Given the description of an element on the screen output the (x, y) to click on. 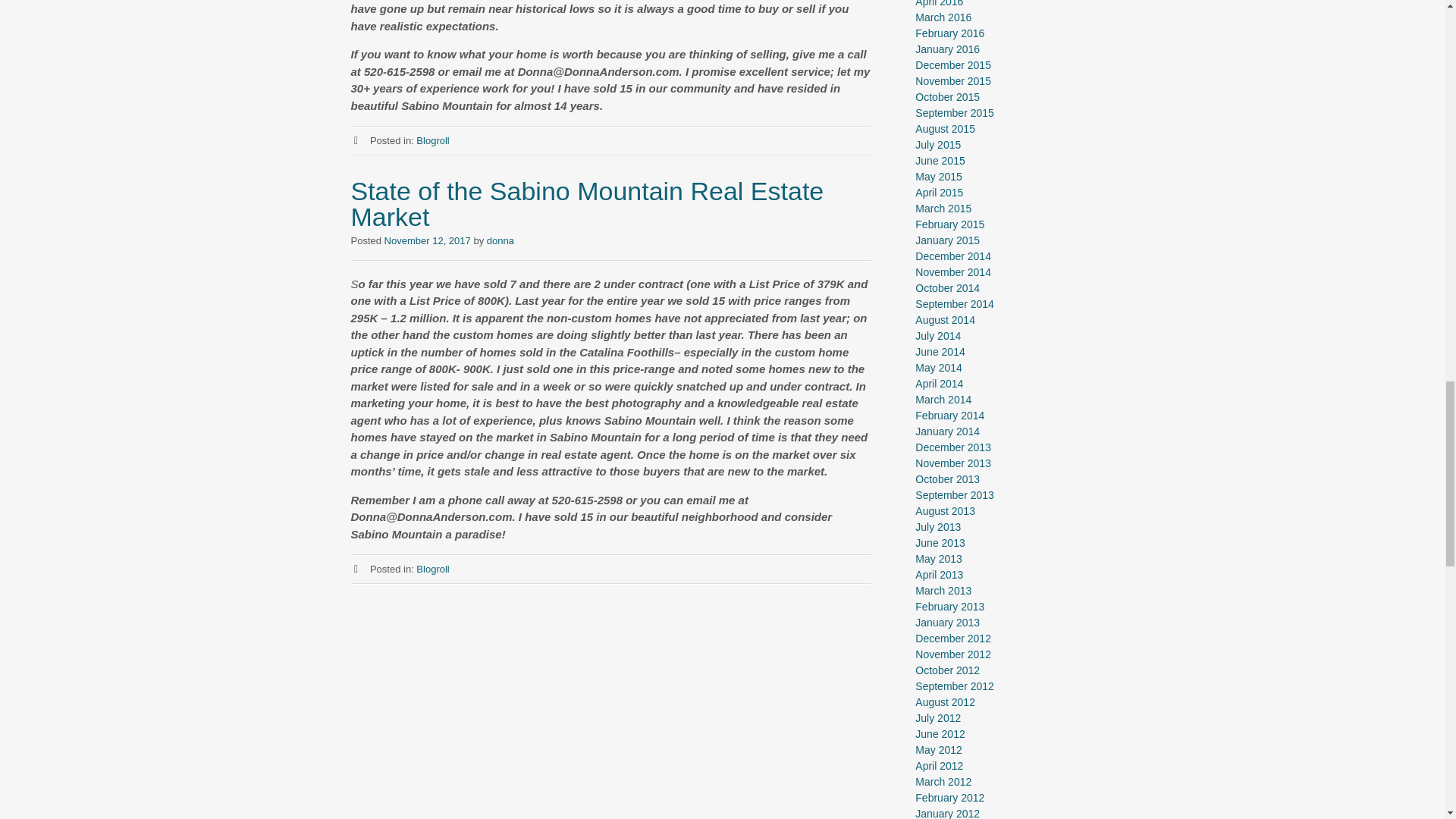
donna (499, 240)
Blogroll (432, 140)
Blogroll (432, 568)
November 12, 2017 (427, 240)
View all posts by donna (499, 240)
State of the Sabino Mountain Real Estate Market (587, 203)
